Given the description of an element on the screen output the (x, y) to click on. 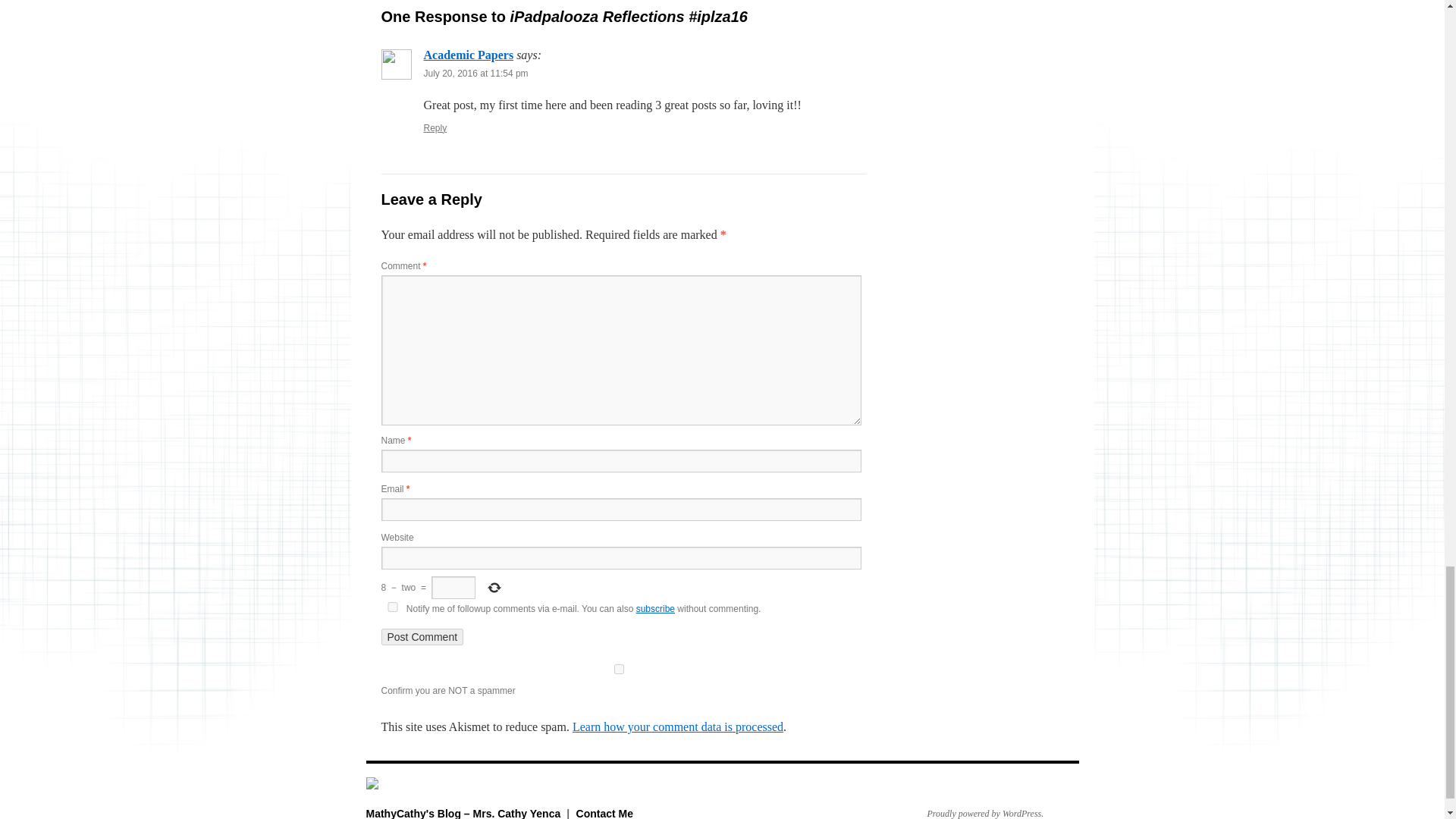
on (618, 669)
Post Comment (421, 636)
yes (391, 606)
